Given the description of an element on the screen output the (x, y) to click on. 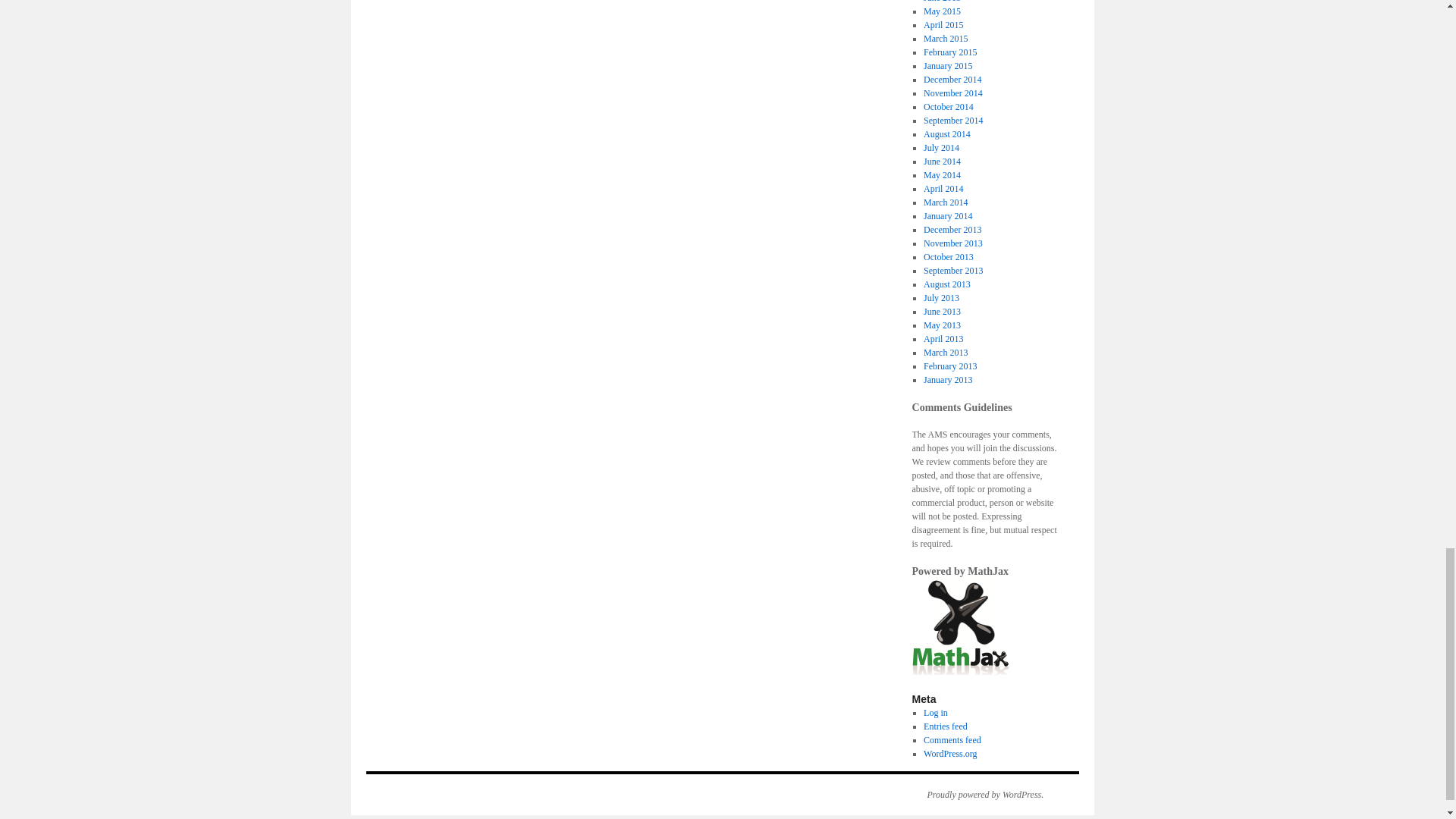
Powered by MathJax (960, 626)
Semantic Personal Publishing Platform (977, 794)
